Given the description of an element on the screen output the (x, y) to click on. 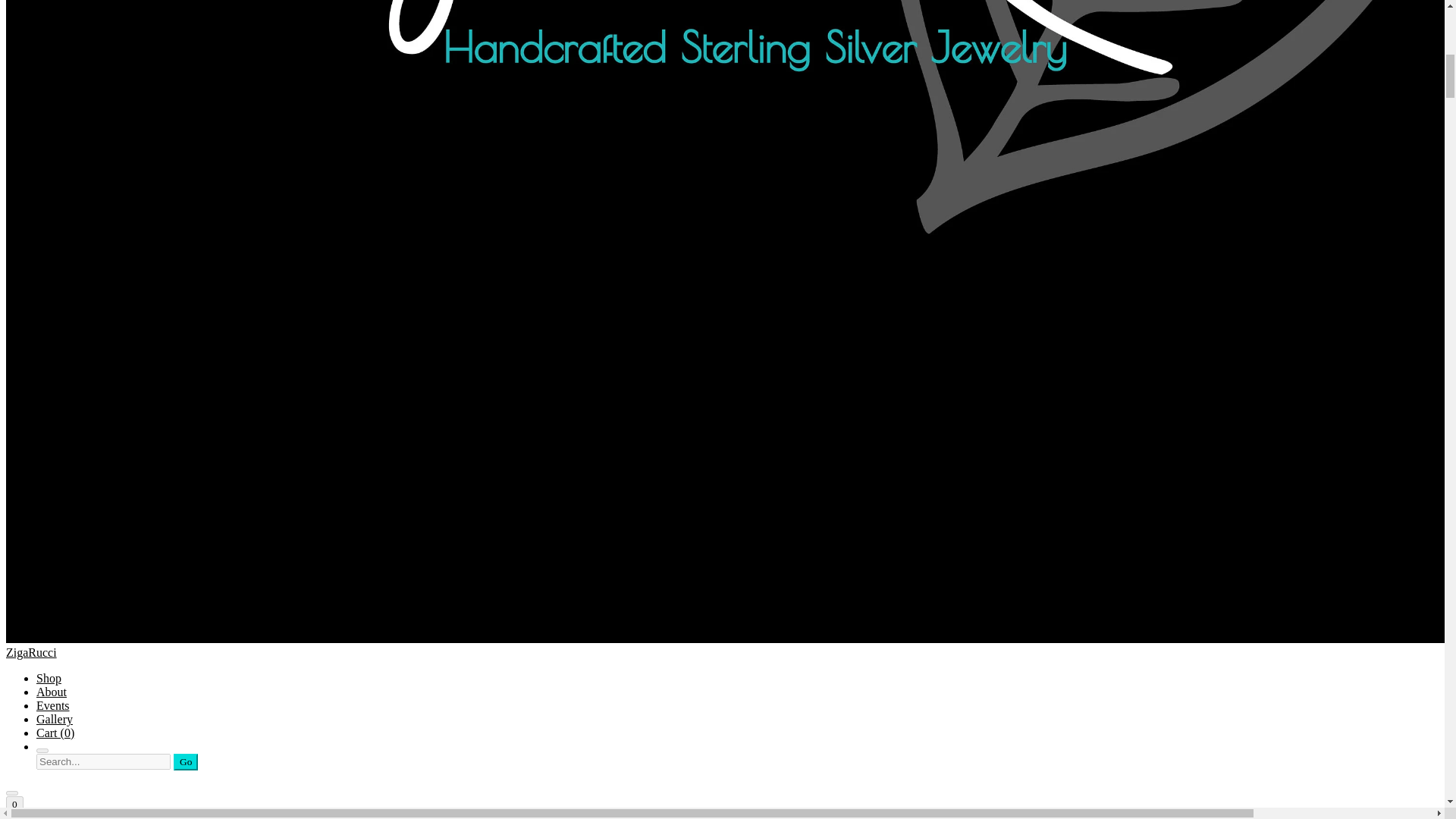
Go (185, 761)
Gallery (54, 718)
Go (185, 761)
Shop (48, 677)
0 (14, 804)
About (51, 691)
Events (52, 705)
